Given the description of an element on the screen output the (x, y) to click on. 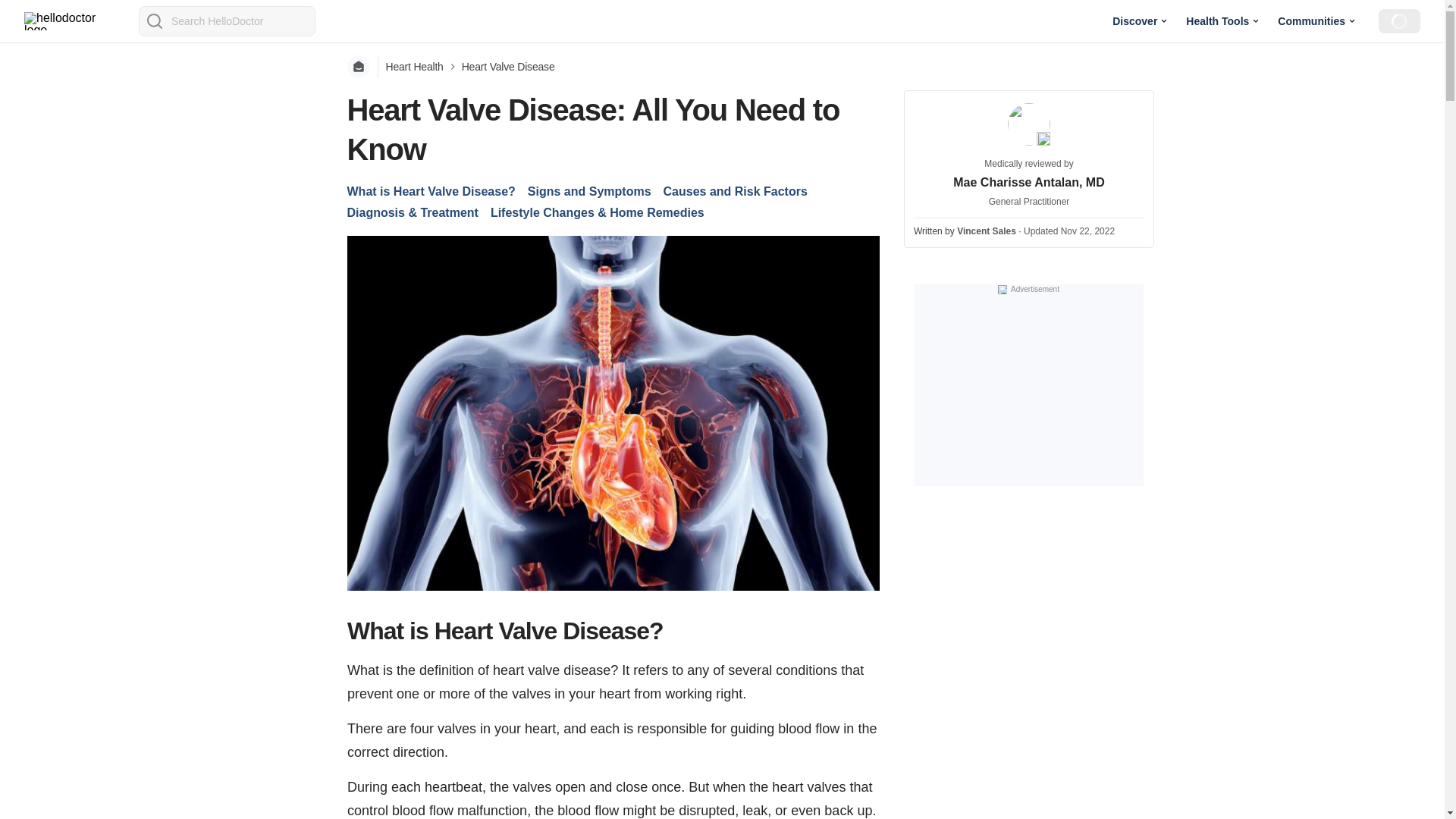
Heart Valve Disease (507, 66)
Heart Health (413, 66)
